Given the description of an element on the screen output the (x, y) to click on. 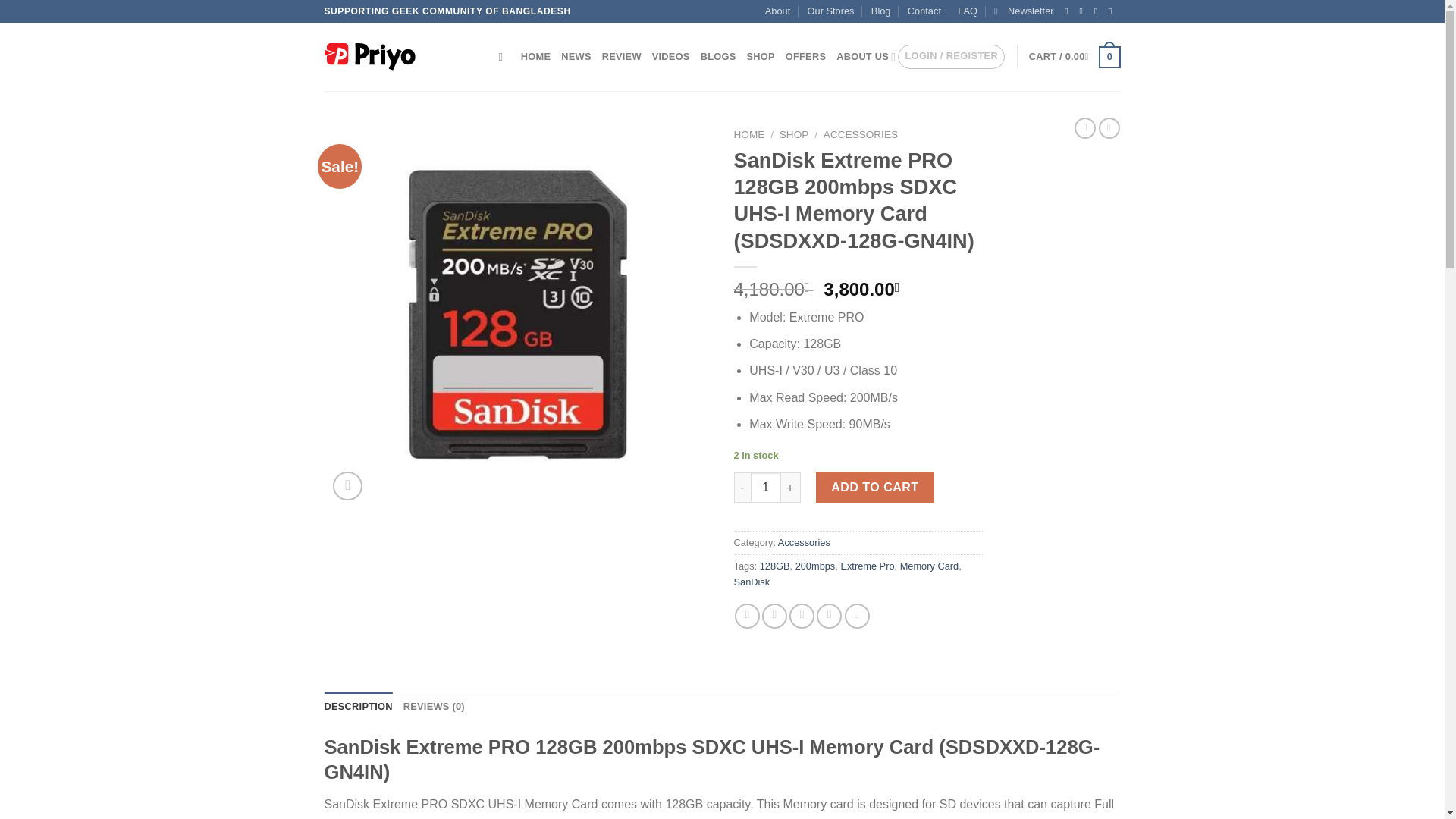
Qty (765, 487)
OFFERS (805, 56)
Newsletter (1023, 11)
HOME (535, 56)
SHOP (793, 134)
BLOGS (718, 56)
About (777, 11)
Share on Facebook (747, 615)
Our Stores (831, 11)
Cart (1075, 57)
Contact (923, 11)
Share on Twitter (774, 615)
SHOP (759, 56)
NEWS (575, 56)
Zoom (347, 486)
